Given the description of an element on the screen output the (x, y) to click on. 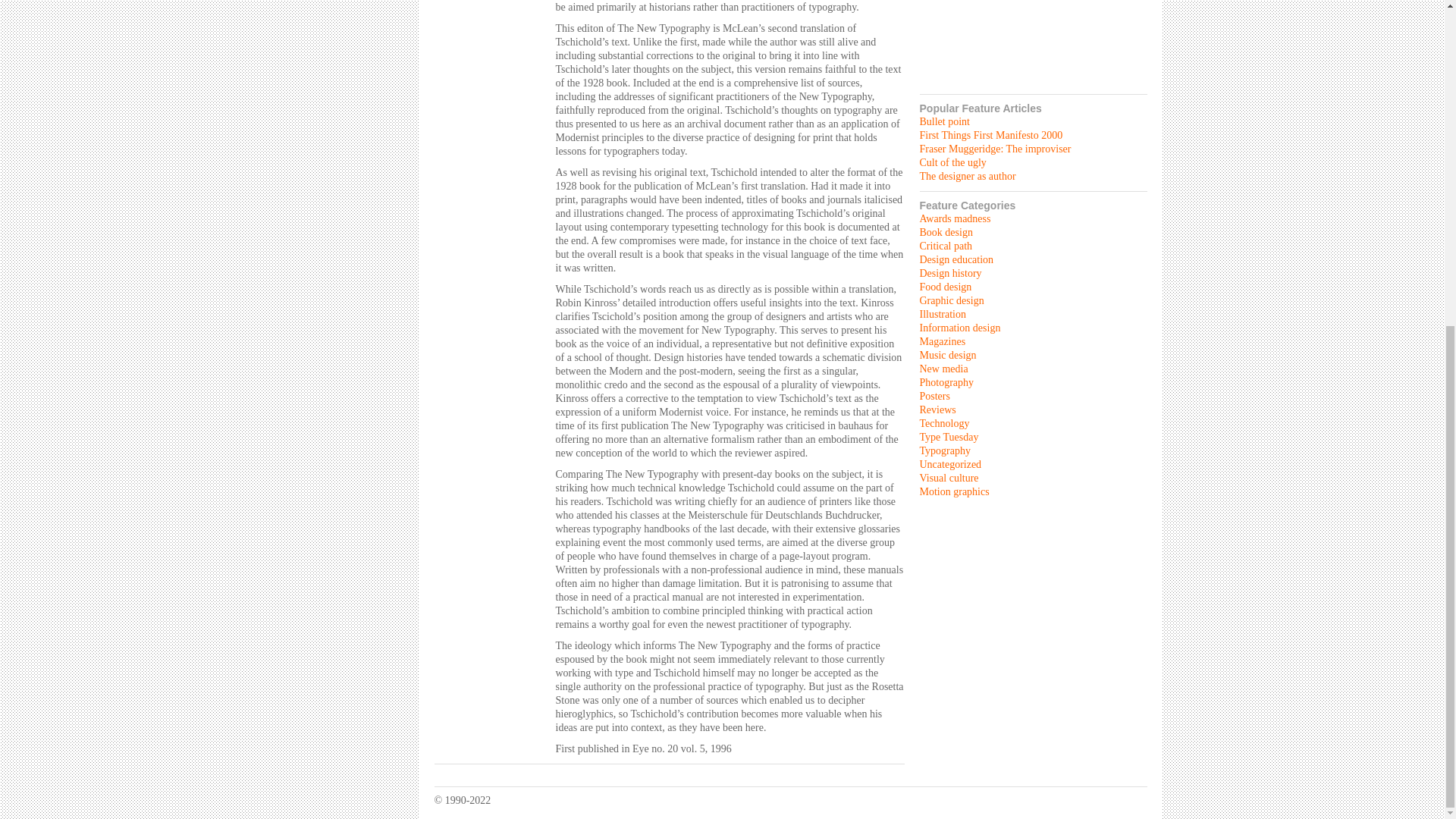
Music design (946, 355)
Information design (959, 327)
Fraser Muggeridge: The improviser (994, 148)
Cult of the ugly (951, 162)
Illustration (941, 314)
Bullet point (943, 121)
Critical path (945, 245)
The designer as author (966, 175)
Magazines (941, 341)
Book design (945, 232)
New media (943, 368)
Food design (944, 286)
First Things First Manifesto 2000 (990, 134)
Design history (949, 273)
Awards madness (954, 218)
